Given the description of an element on the screen output the (x, y) to click on. 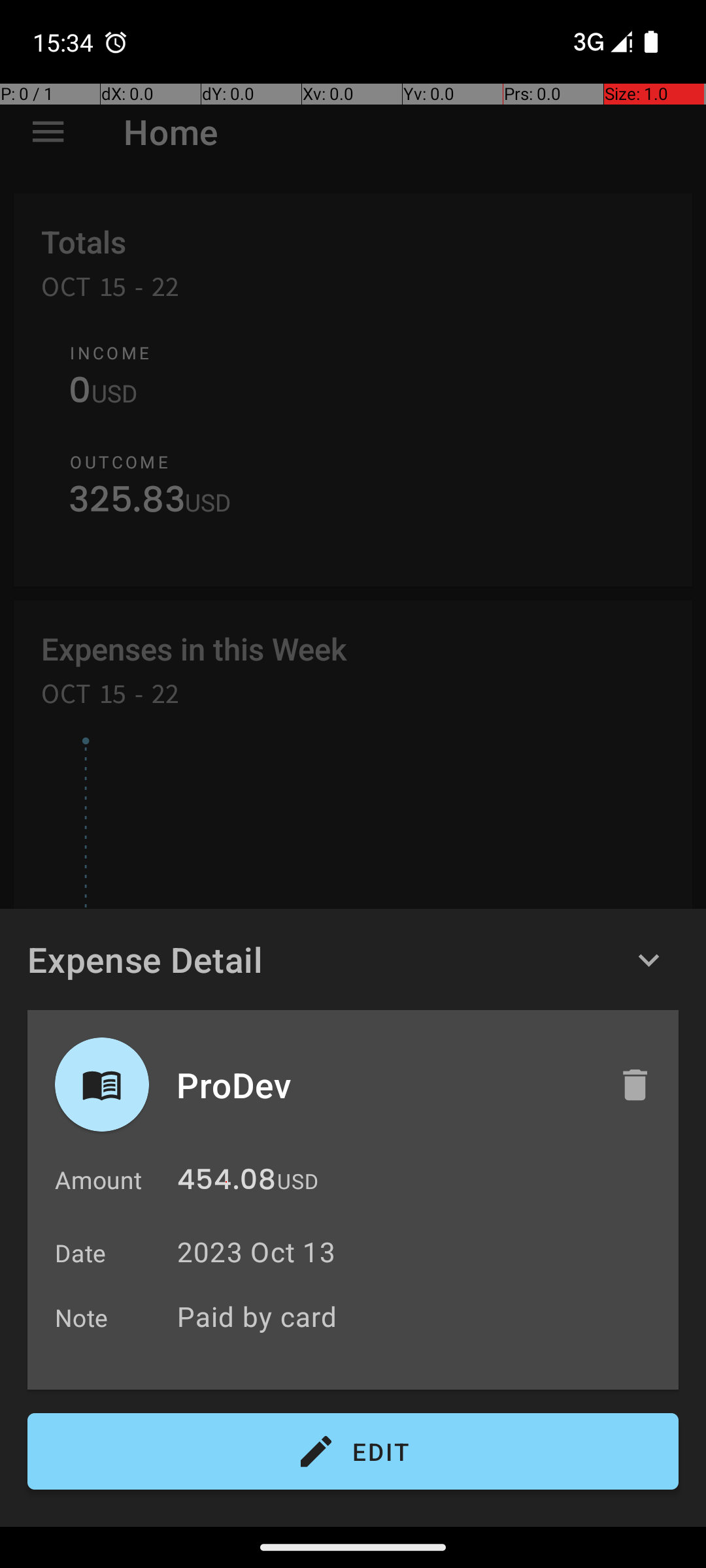
ProDev Element type: android.widget.TextView (383, 1084)
454.08 Element type: android.widget.TextView (226, 1182)
